Given the description of an element on the screen output the (x, y) to click on. 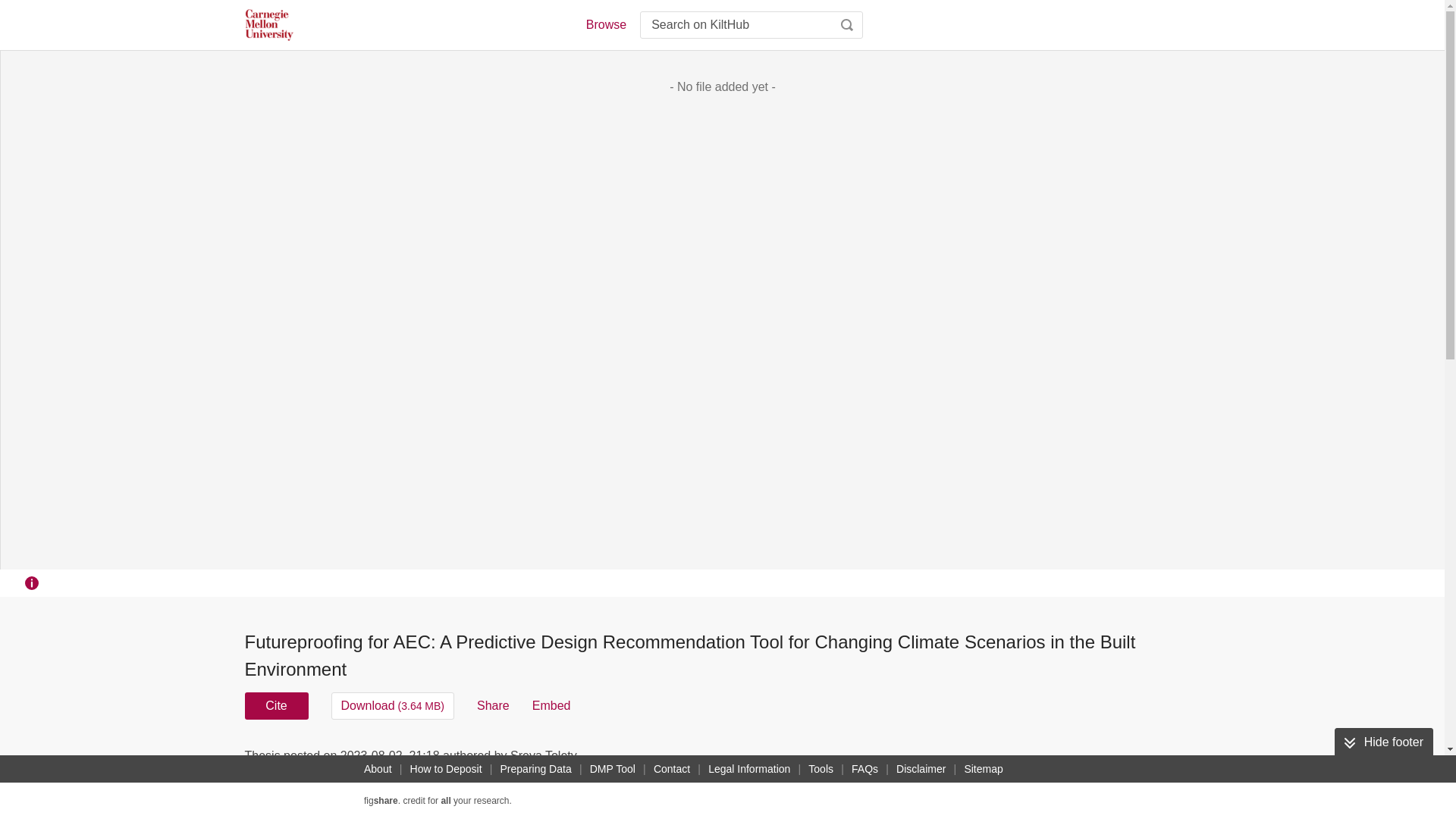
Tools (820, 769)
FAQs (864, 769)
Embed (551, 705)
How to Deposit (446, 769)
DMP Tool (612, 769)
USAGE METRICS (976, 759)
Disclaimer (920, 769)
Browse (605, 24)
Share (493, 705)
Cite (275, 705)
Preparing Data (536, 769)
Contact (671, 769)
Sitemap (983, 769)
Legal Information (748, 769)
Hide footer (1383, 742)
